Given the description of an element on the screen output the (x, y) to click on. 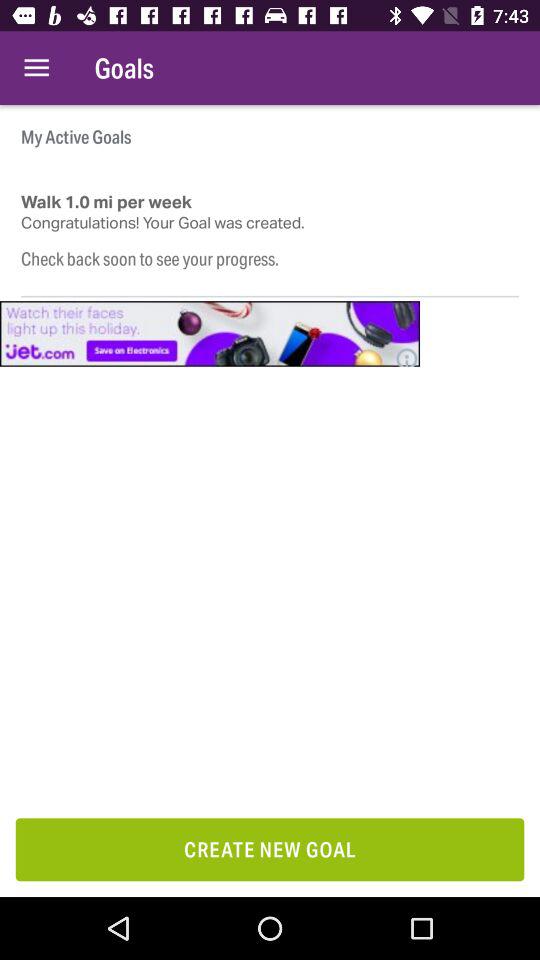
screen page (210, 333)
